Given the description of an element on the screen output the (x, y) to click on. 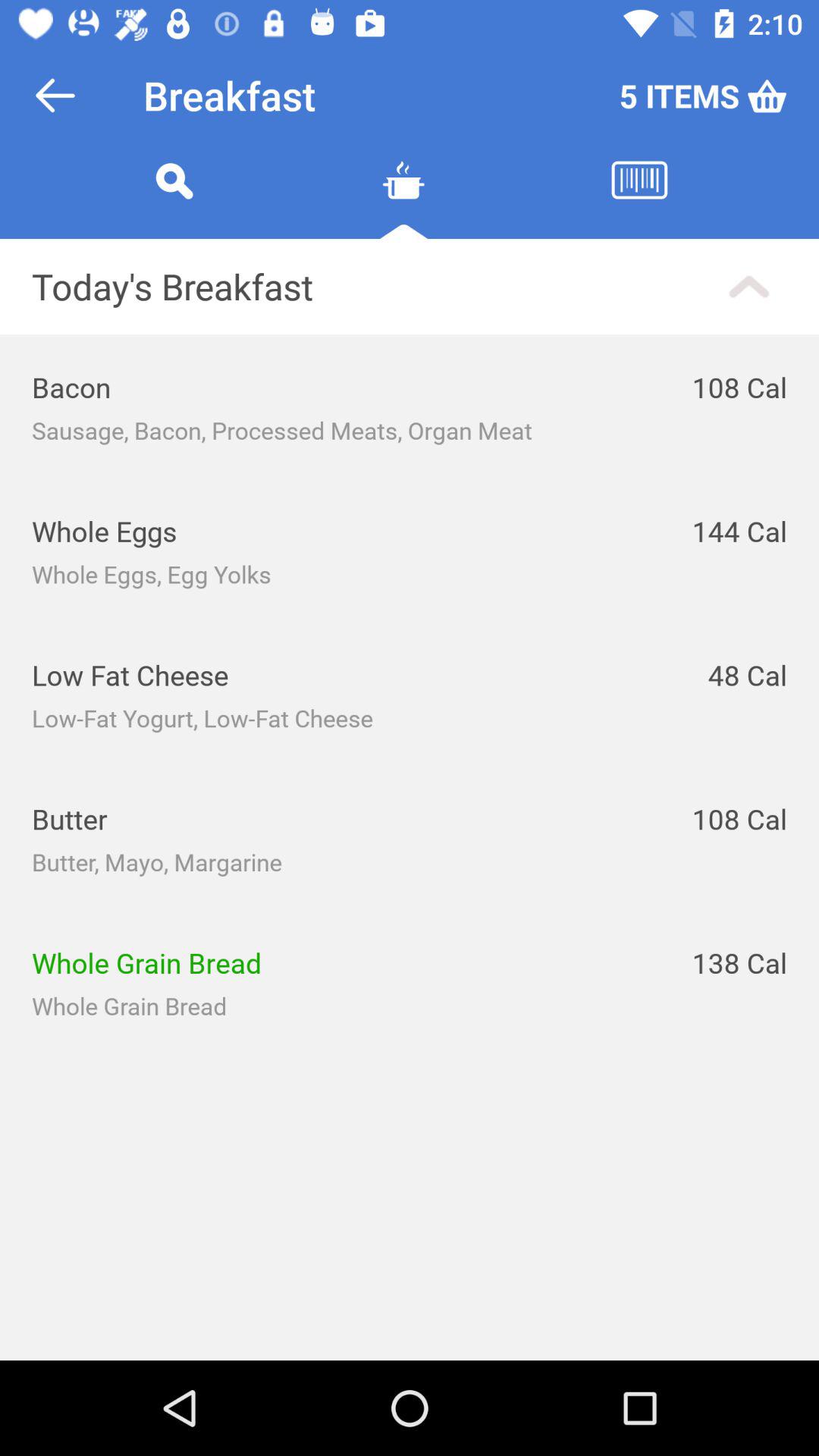
diet history (639, 198)
